Given the description of an element on the screen output the (x, y) to click on. 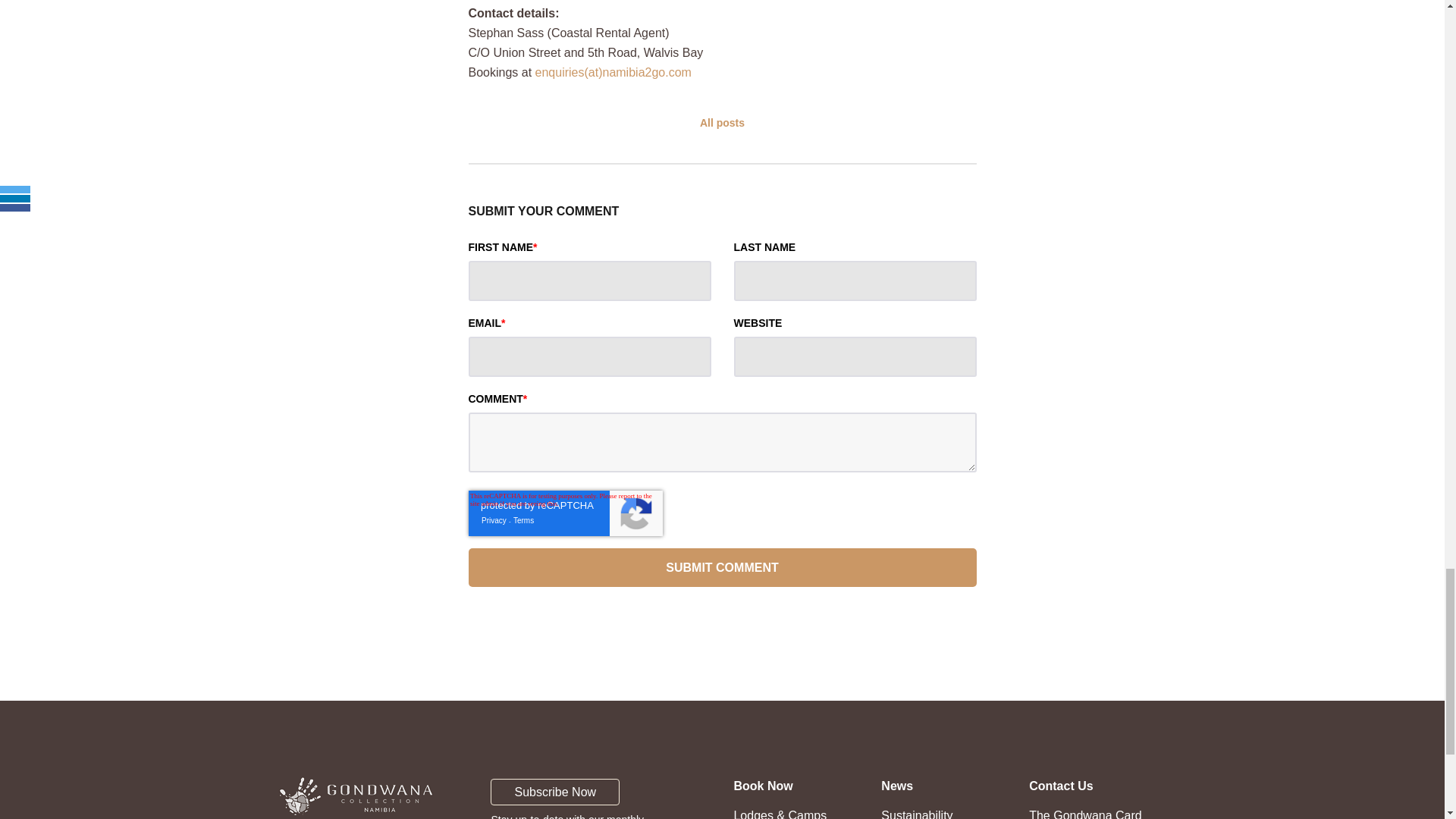
Gondwana-Collection-Logo-Footer-1 (355, 795)
Submit Comment (722, 567)
reCAPTCHA (565, 513)
